Given the description of an element on the screen output the (x, y) to click on. 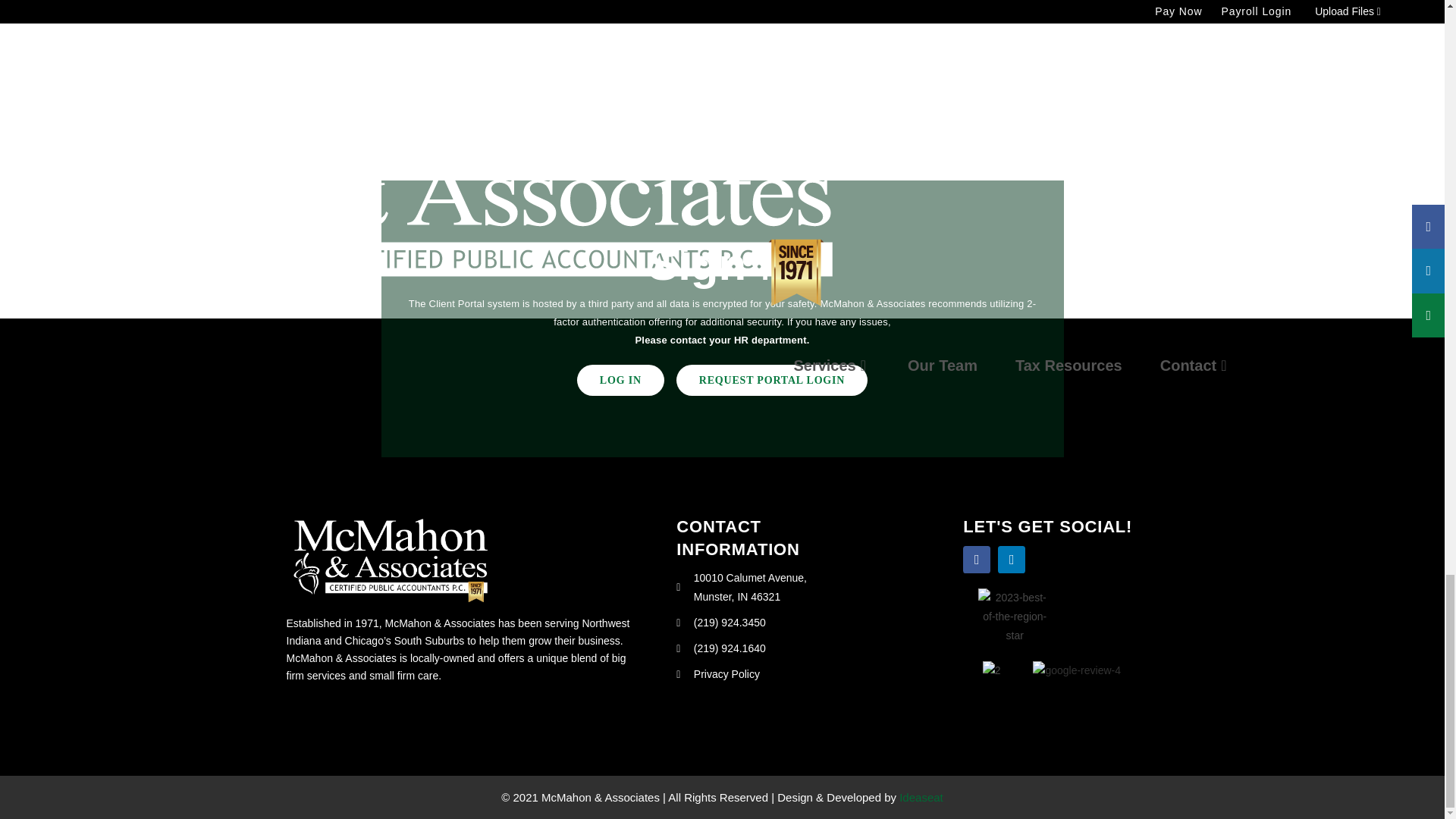
2023-best-of-the-region-star (1014, 617)
2 (991, 670)
google-review-4 (1076, 670)
